Given the description of an element on the screen output the (x, y) to click on. 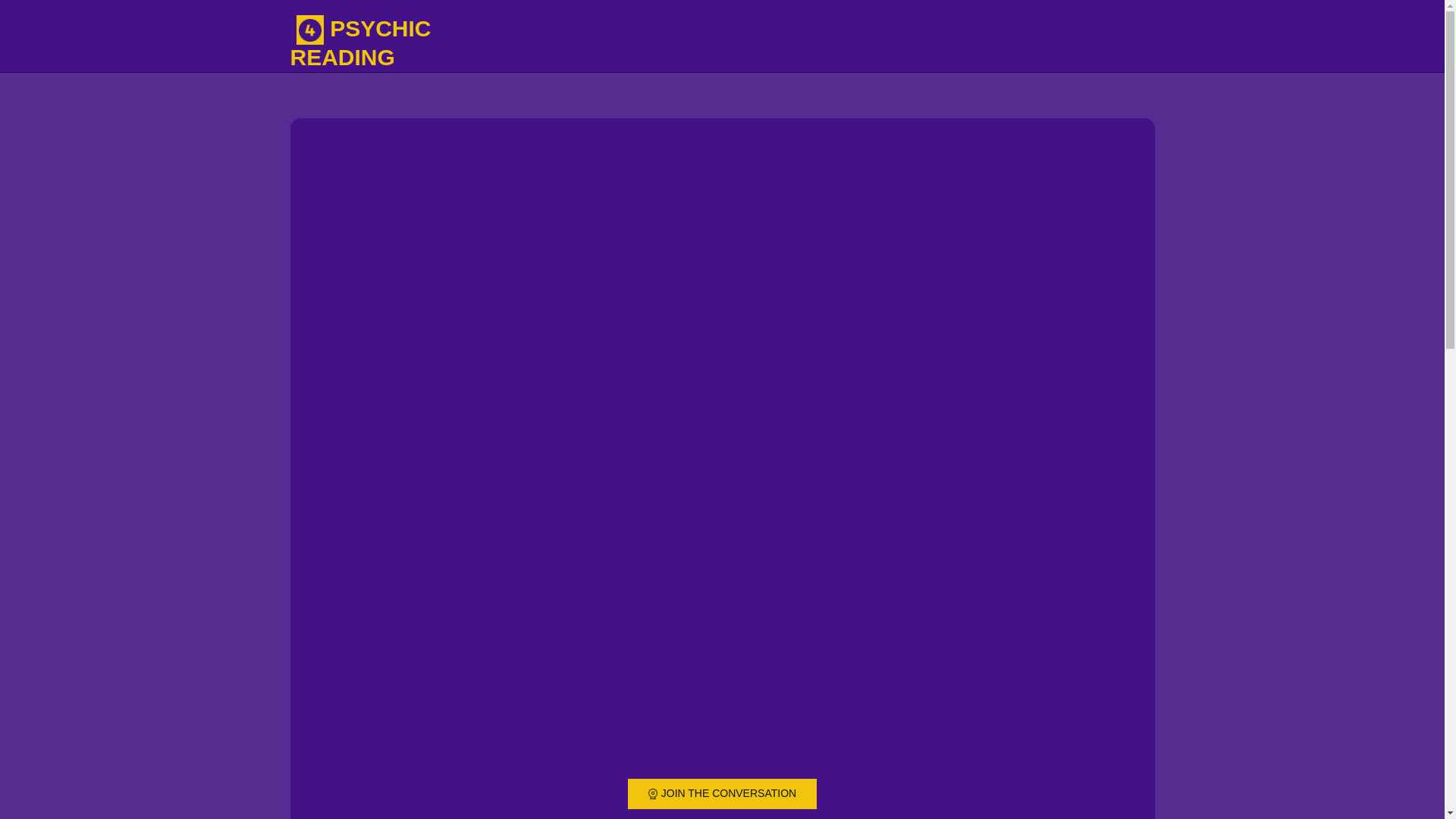
 JOIN THE CONVERSATION (721, 793)
  PSYCHIC READING (359, 42)
